Given the description of an element on the screen output the (x, y) to click on. 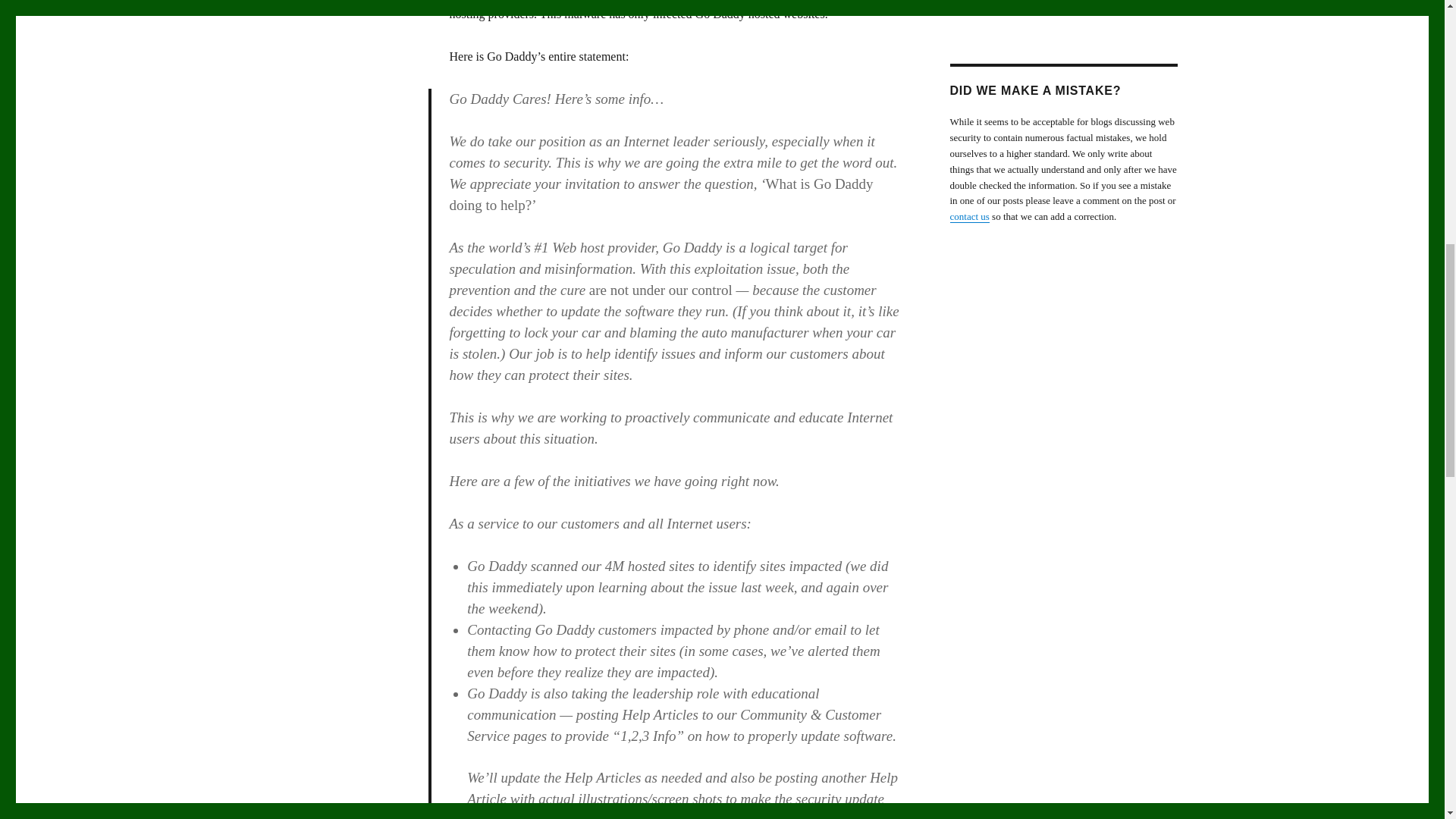
Atom (1144, 1)
contact us (968, 215)
RSS (1106, 1)
